Given the description of an element on the screen output the (x, y) to click on. 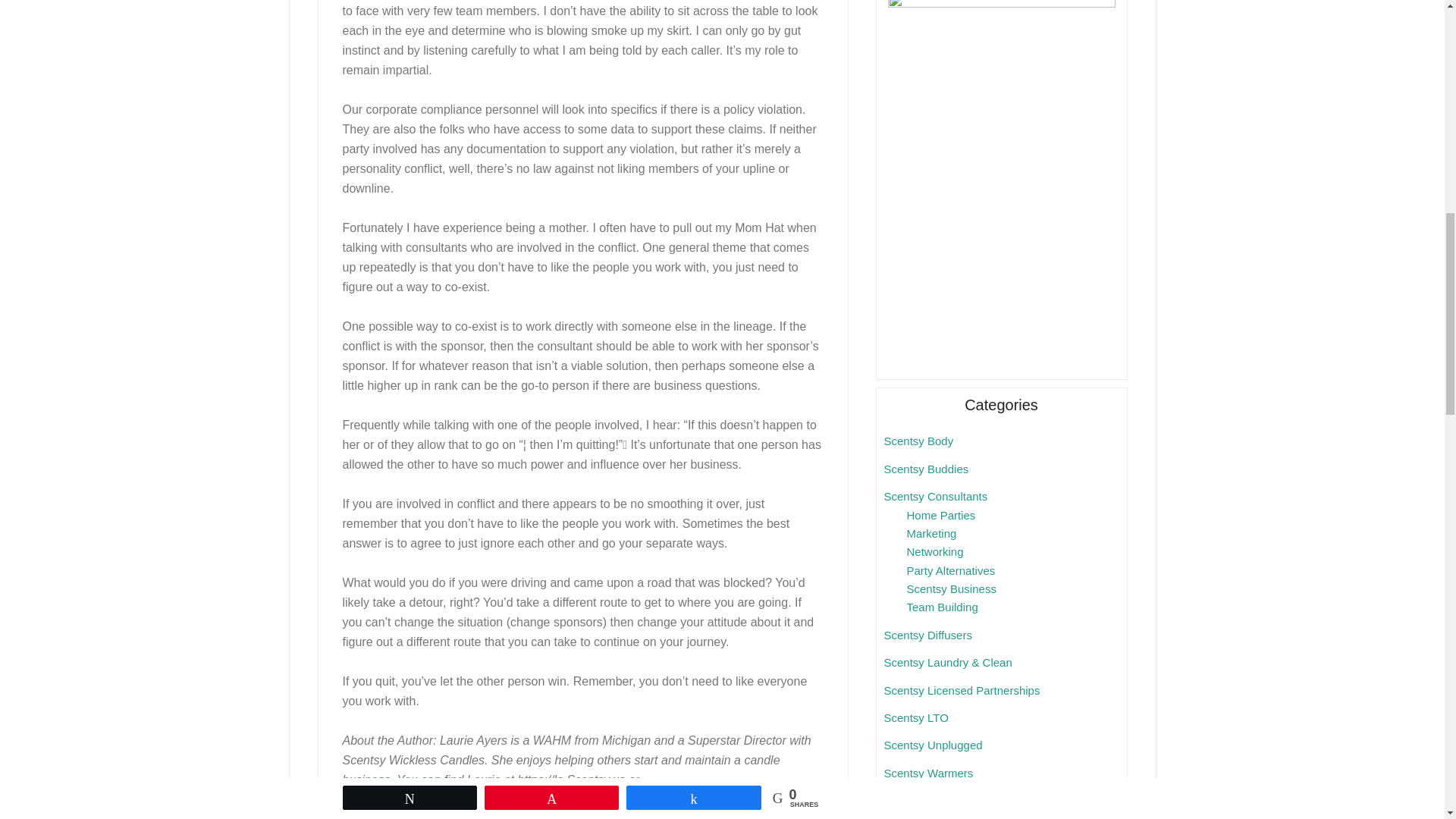
Scentsy Body (918, 440)
